Given the description of an element on the screen output the (x, y) to click on. 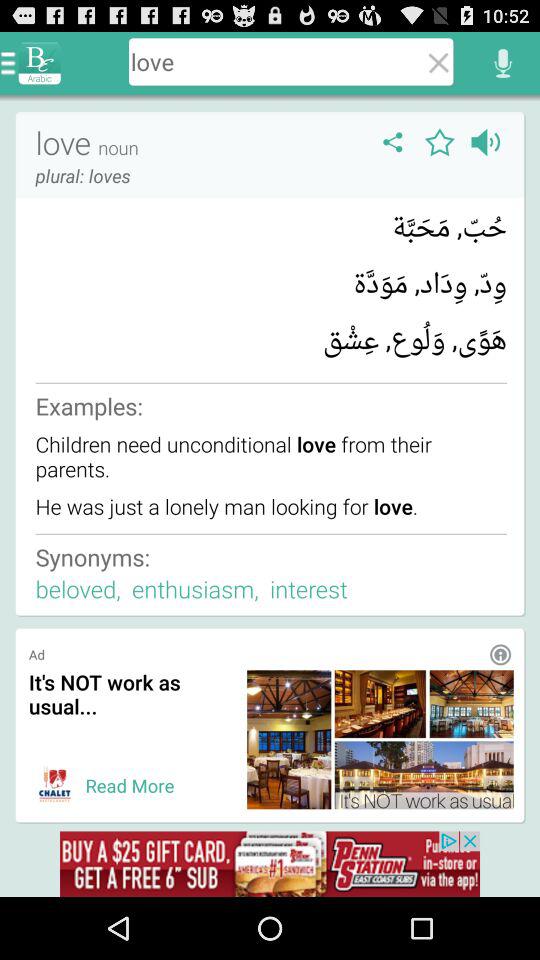
open information (500, 654)
